Given the description of an element on the screen output the (x, y) to click on. 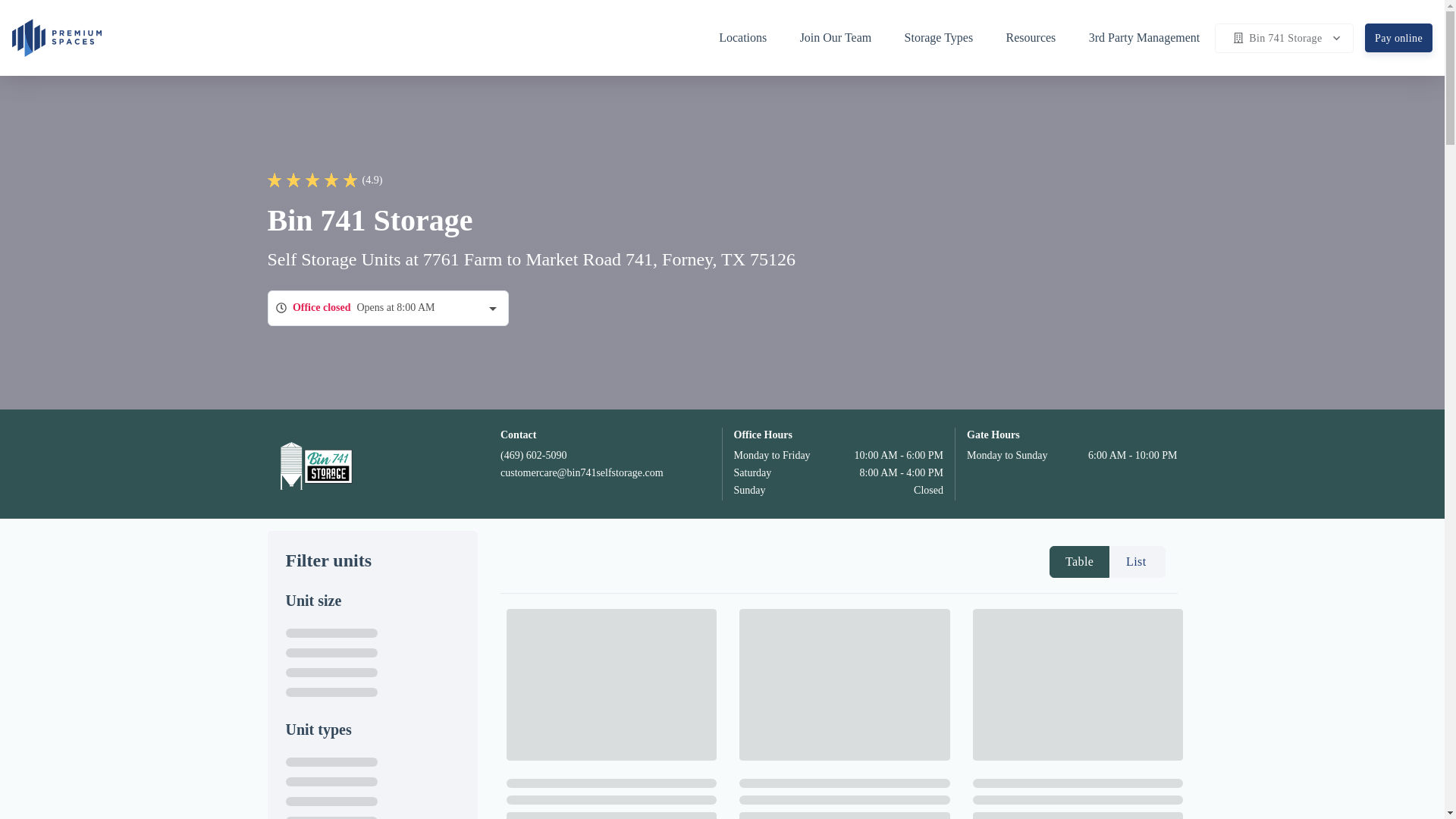
3rd Party Management (1144, 37)
Premium Spaces logo (56, 36)
Resources (1038, 37)
Bin 741 Storage (1284, 37)
Bin 741 Storage logo (314, 463)
Join Our Team (842, 37)
true (1130, 560)
false (1070, 560)
Pay online (1398, 37)
Locations (750, 37)
Storage Types (946, 37)
